Given the description of an element on the screen output the (x, y) to click on. 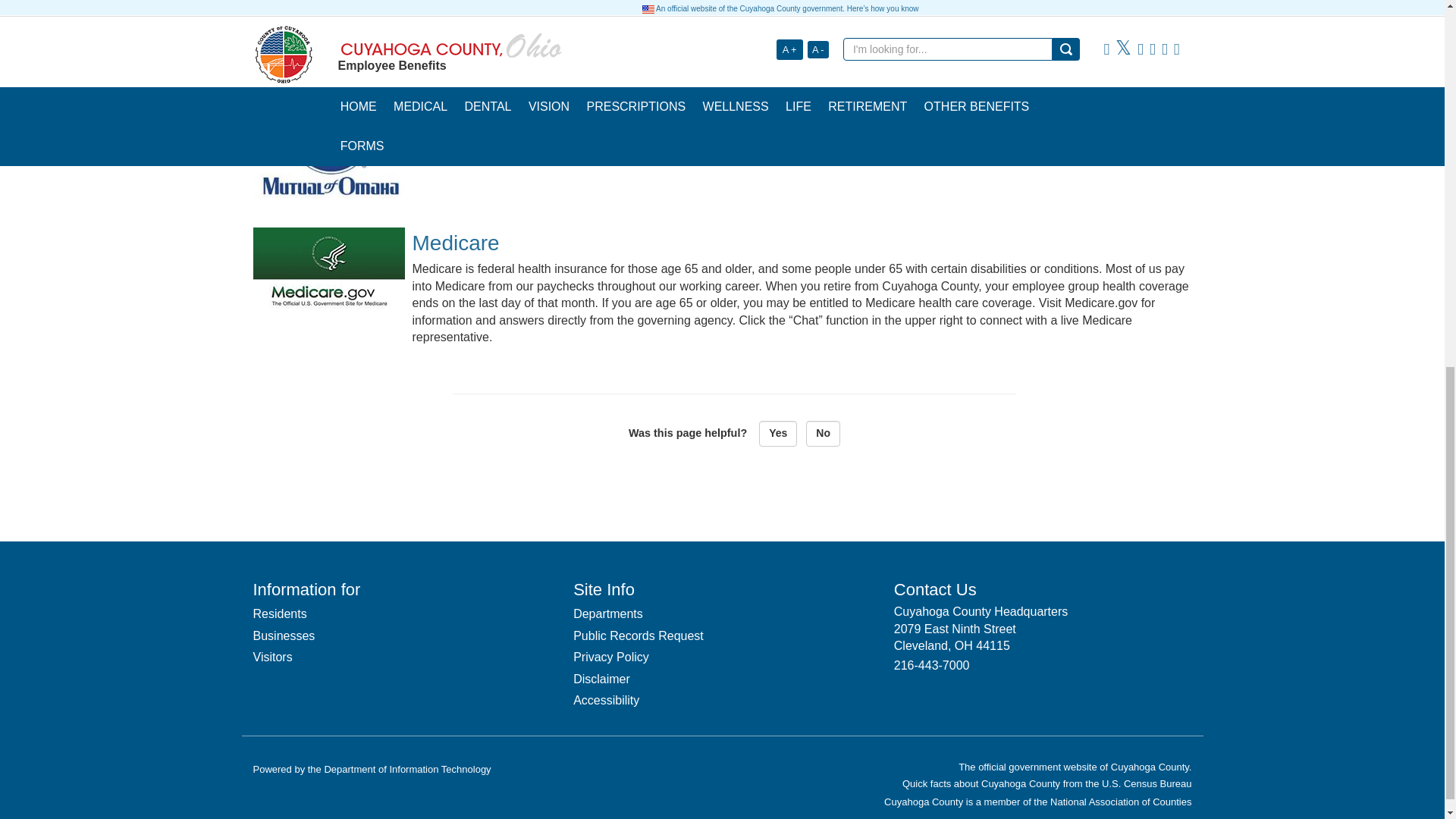
Mutual of Omaha (328, 145)
OhioDeferredCompensation (328, 32)
